Given the description of an element on the screen output the (x, y) to click on. 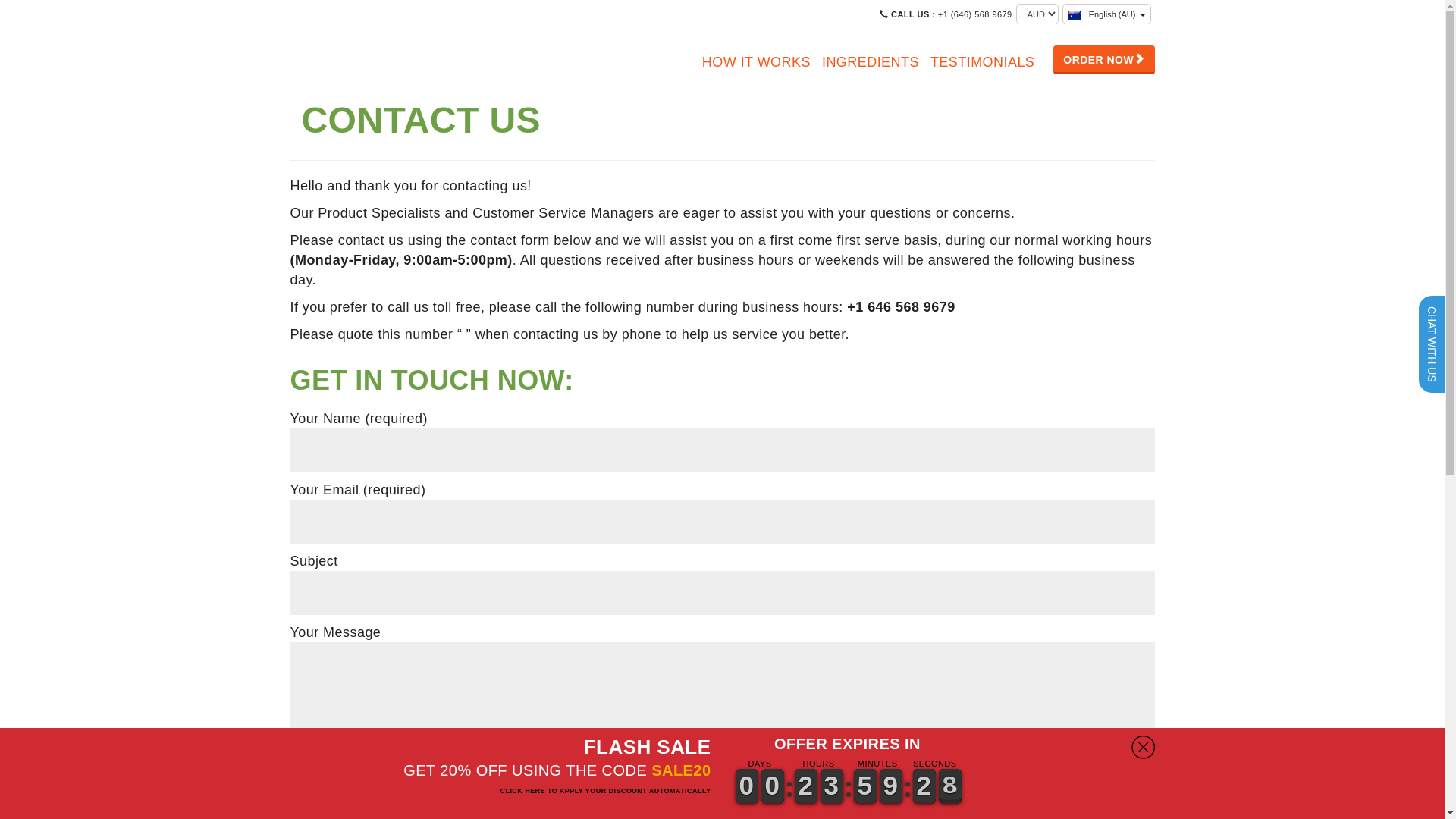
1
1 Element type: text (805, 785)
HOW IT WORKS Element type: text (754, 61)
9
9 Element type: text (772, 785)
8
8 Element type: text (890, 785)
 English (AU) Element type: text (1106, 13)
Garcinia Extra Element type: text (342, 62)
2
2 Element type: text (831, 785)
ORDER NOW Element type: text (1103, 59)
TESTIMONIALS Element type: text (980, 61)
3 Element type: text (924, 785)
9
9 Element type: text (746, 785)
9
9 Element type: text (949, 785)
4
4 Element type: text (864, 785)
INGREDIENTS Element type: text (868, 61)
